Given the description of an element on the screen output the (x, y) to click on. 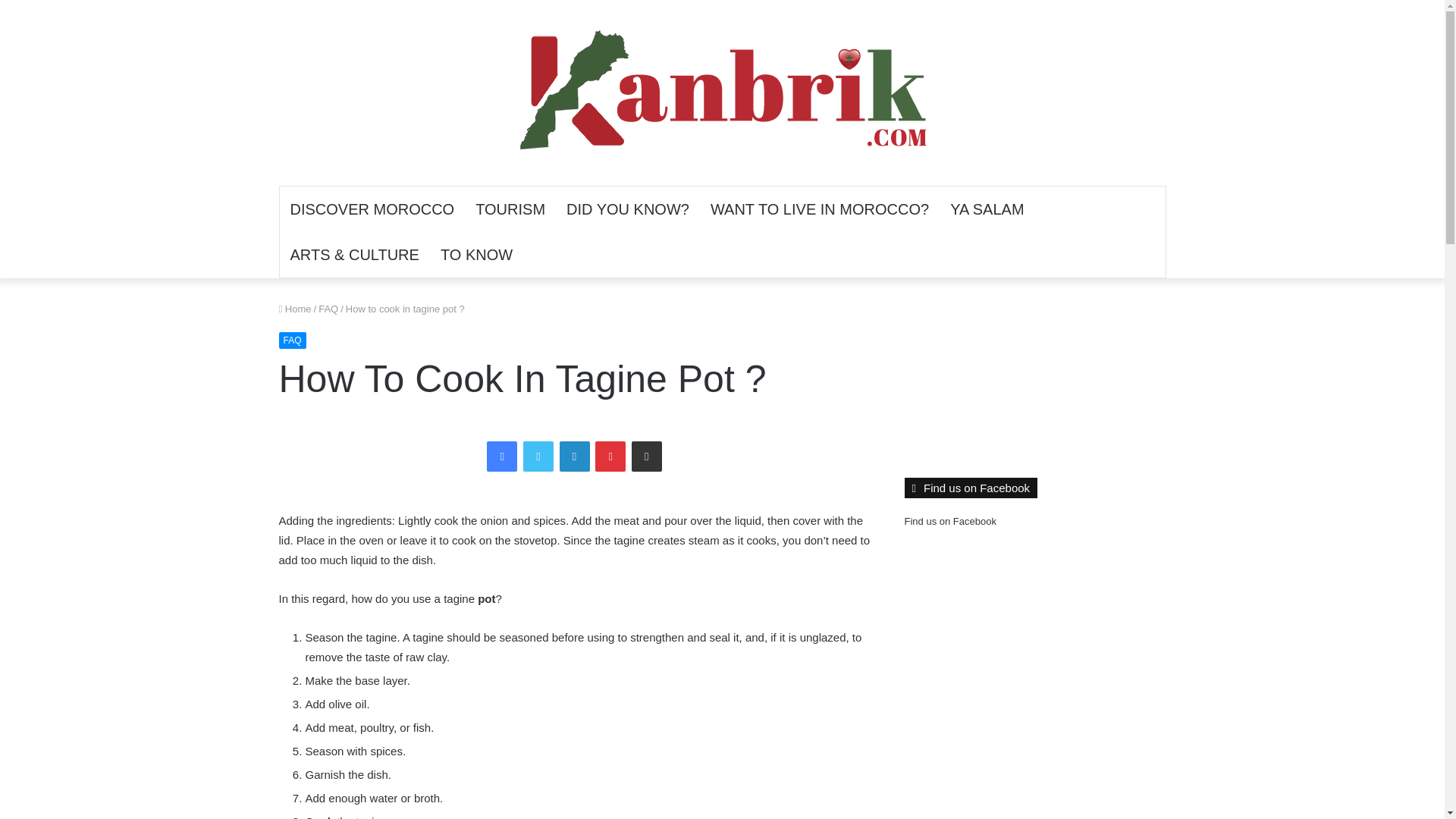
Share via Email (646, 456)
Find us on Facebook (949, 521)
LinkedIn (574, 456)
FAQ (292, 340)
DID YOU KNOW? (628, 208)
Facebook (501, 456)
LinkedIn (574, 456)
Pinterest (610, 456)
Pinterest (610, 456)
YA SALAM (986, 208)
